Given the description of an element on the screen output the (x, y) to click on. 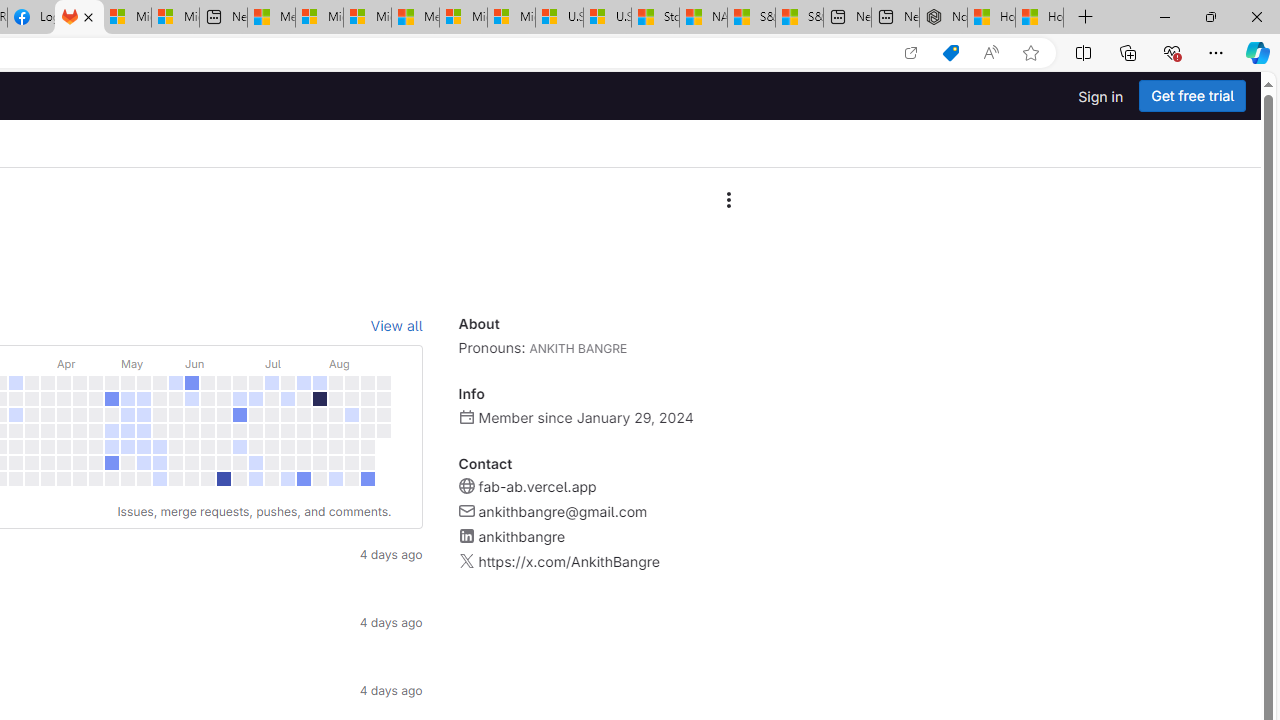
Microsoft account | Privacy (319, 17)
AutomationID: dropdown-toggle-btn-16 (727, 200)
